Given the description of an element on the screen output the (x, y) to click on. 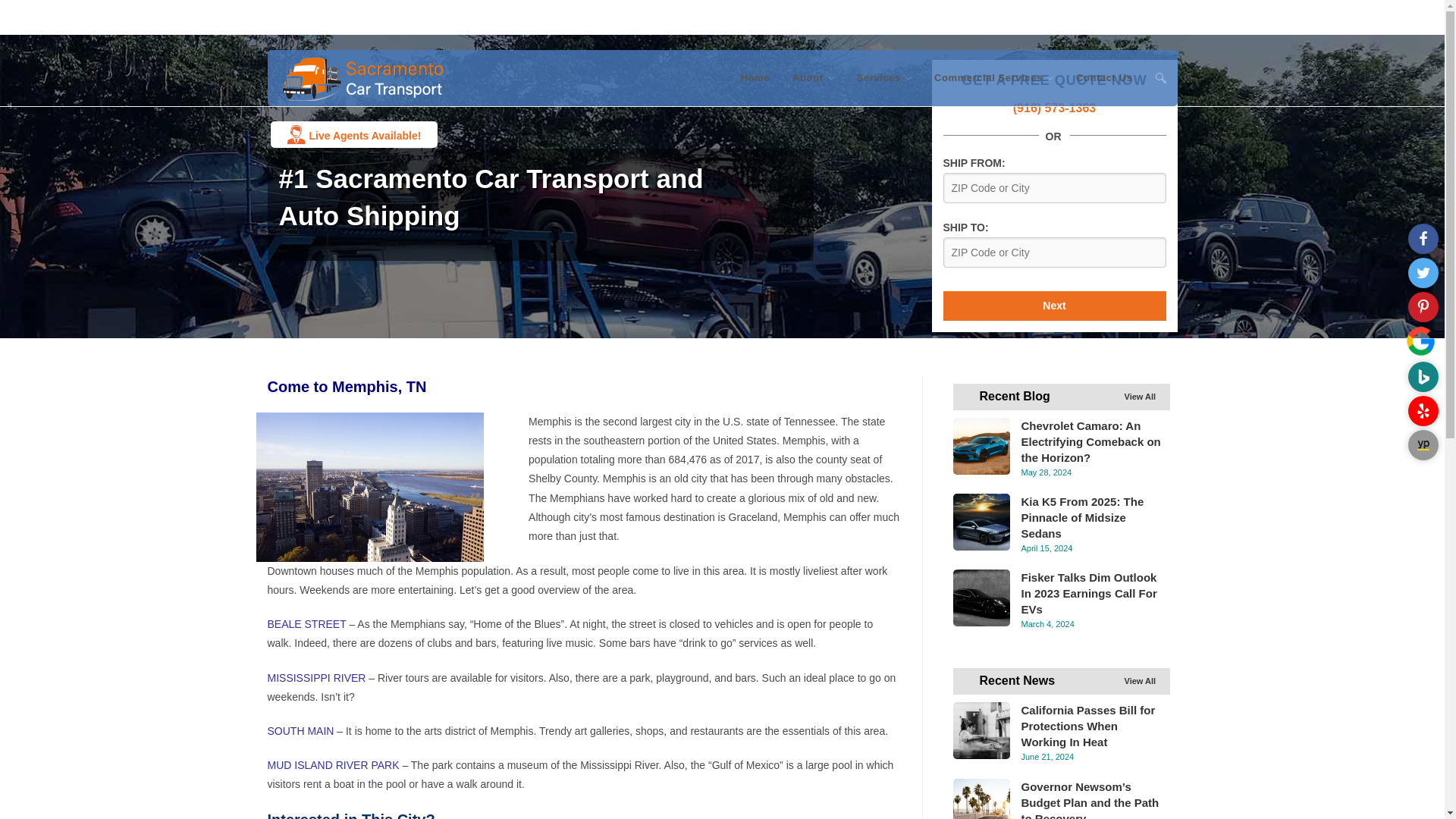
Quote (1155, 14)
Enter a location (1054, 187)
Next (1054, 306)
Services (884, 77)
Enter a location (1054, 252)
Chevrolet Camaro: An Electrifying Comeback on the Horizon? (980, 446)
Commercial Services (993, 77)
View All (1140, 396)
California Passes Bill for Protections When Working In Heat (980, 730)
Car Transport States (1082, 14)
Home (755, 77)
Kia K5 From 2025: The Pinnacle of Midsize Sedans (980, 521)
Contact Us (1104, 77)
Auto Transport Cities (975, 14)
About (812, 77)
